Given the description of an element on the screen output the (x, y) to click on. 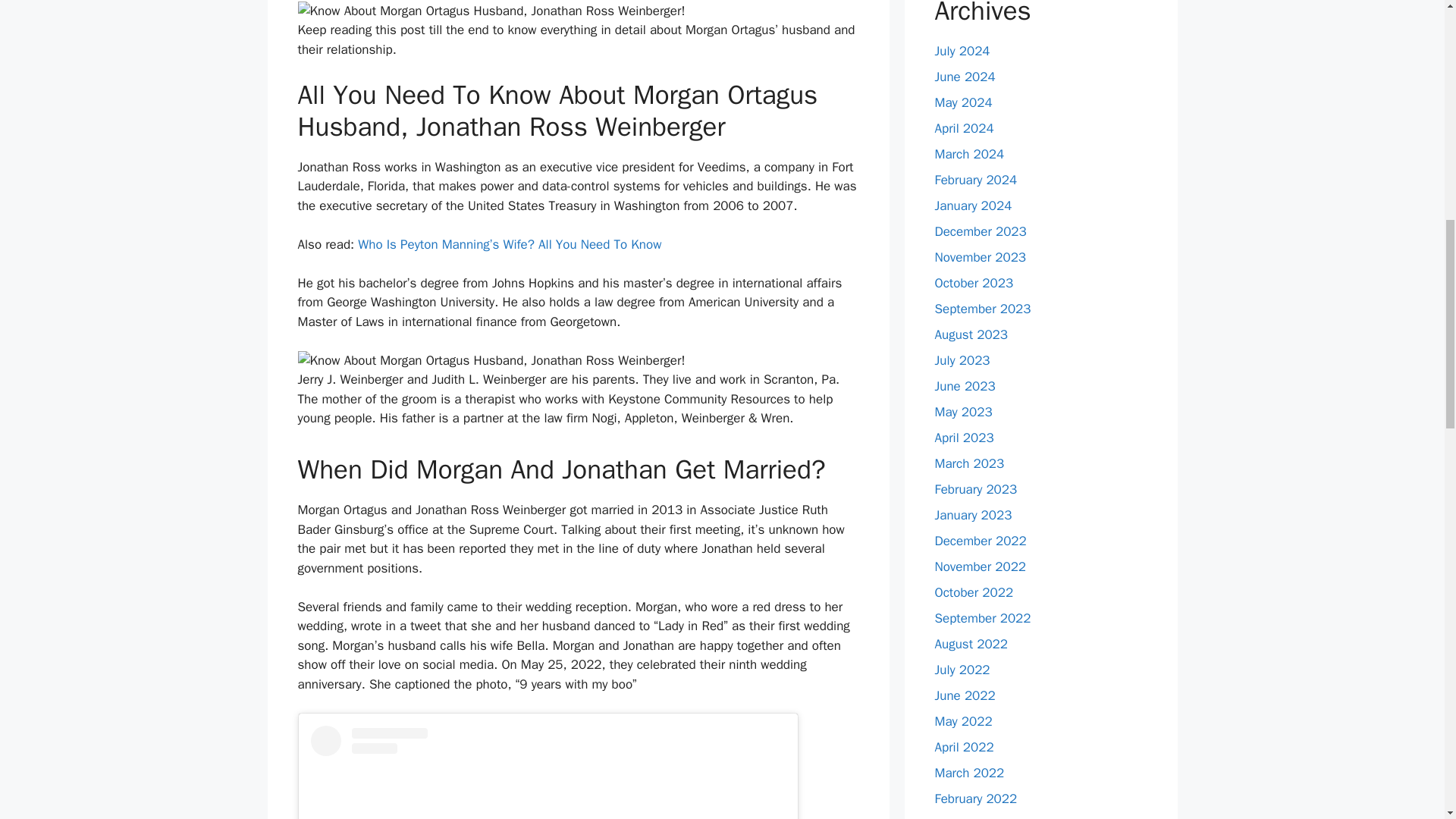
May 2024 (962, 102)
June 2024 (964, 76)
View this post on Instagram (548, 772)
July 2024 (962, 50)
